Given the description of an element on the screen output the (x, y) to click on. 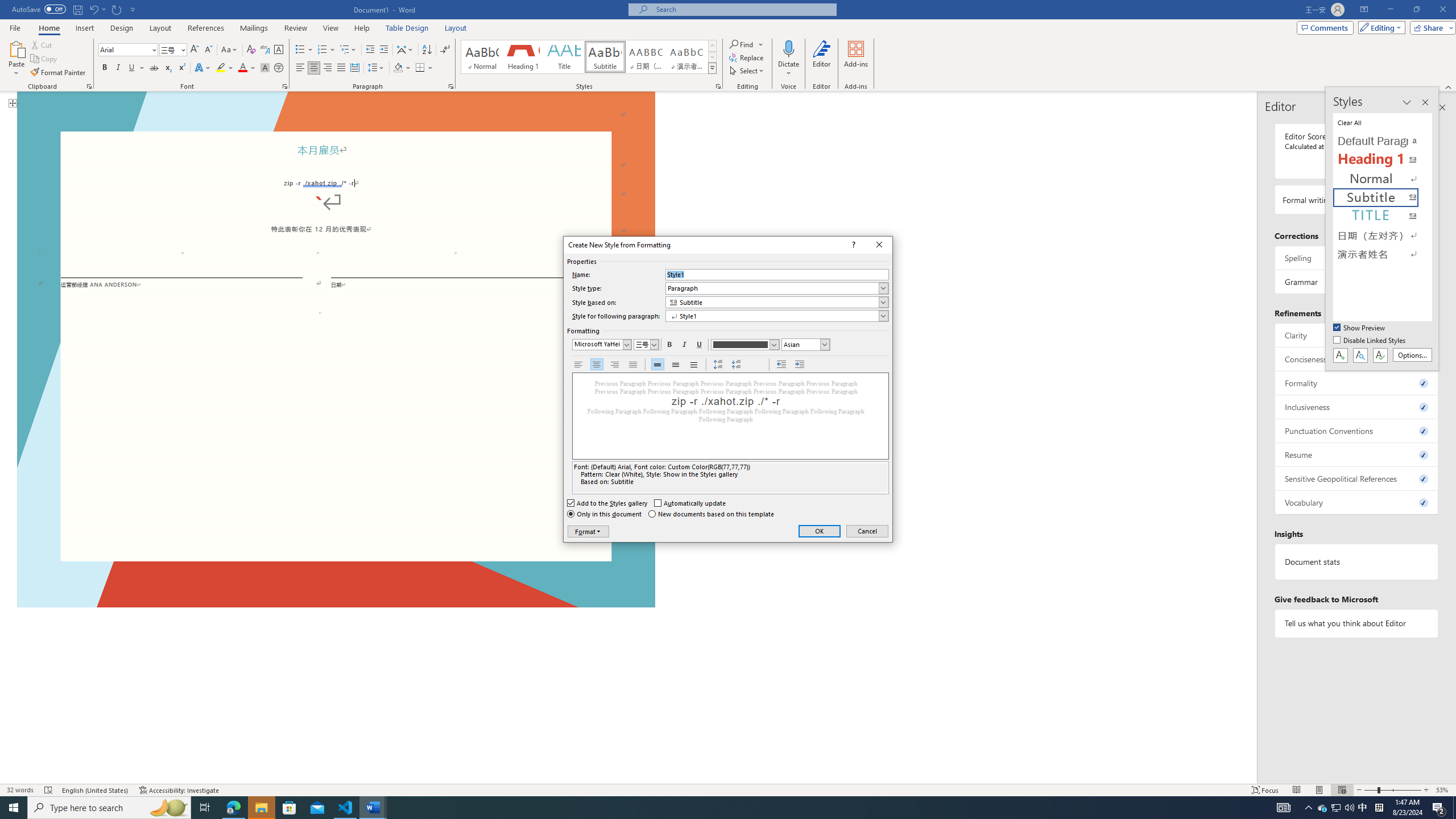
Name: (777, 274)
Start (13, 807)
Conciseness, 0 issues. Press space or enter to review items. (1356, 359)
RichEdit Control (777, 274)
Only in this document (604, 513)
Action Center, 2 new notifications (1439, 807)
